Given the description of an element on the screen output the (x, y) to click on. 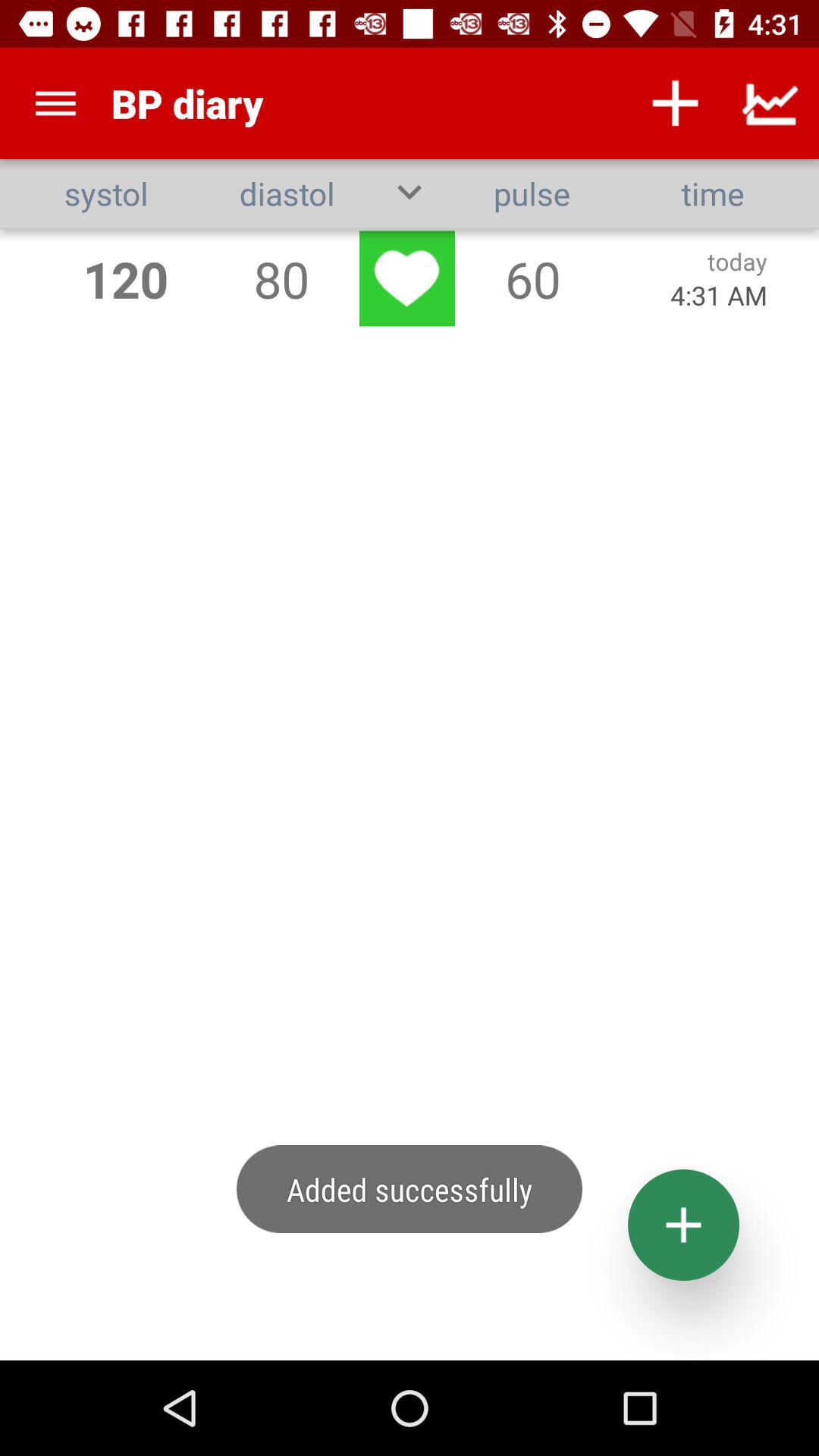
select the app next to bp diary item (675, 103)
